Given the description of an element on the screen output the (x, y) to click on. 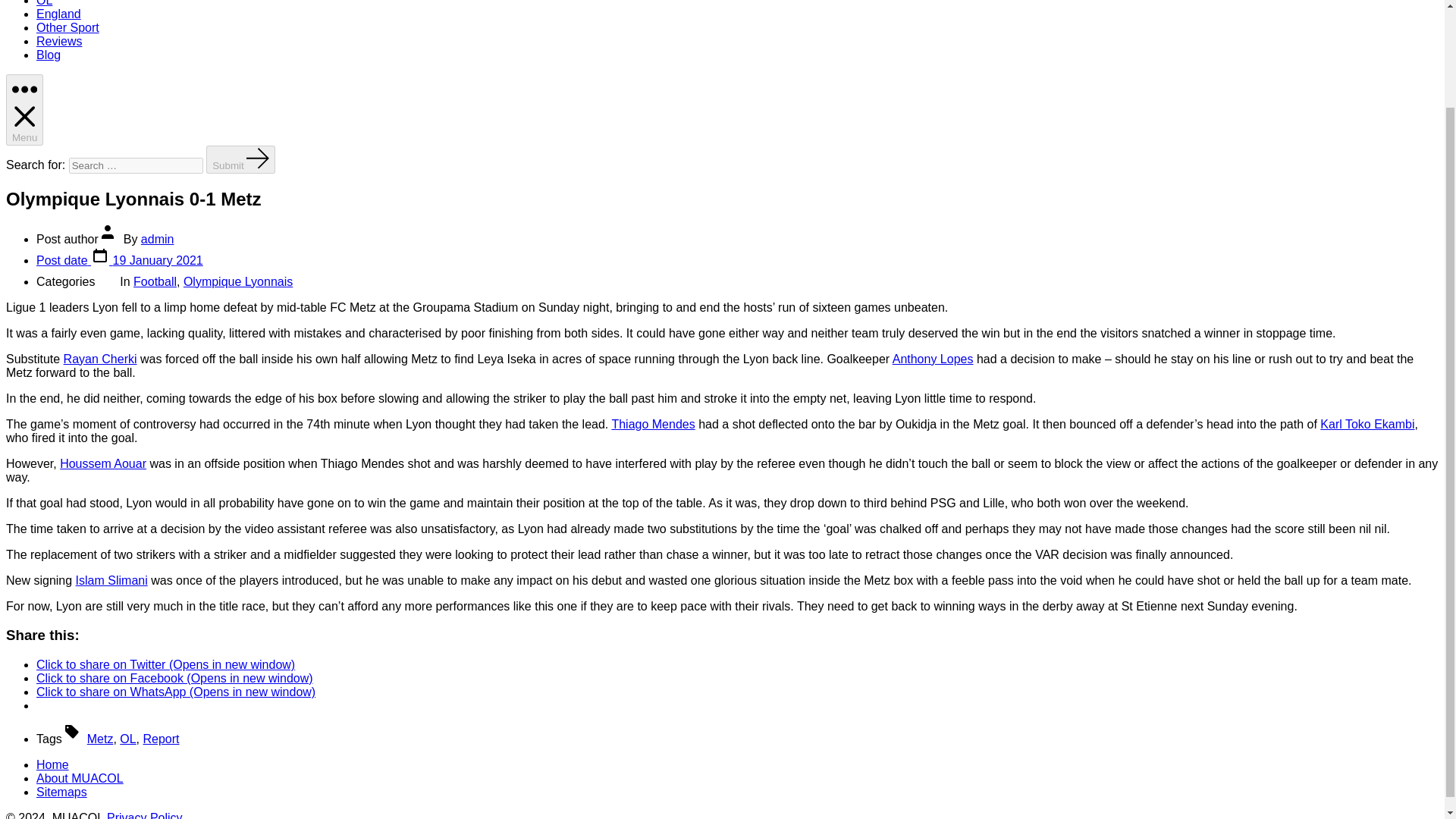
Metz (100, 738)
OL (127, 738)
Reviews (58, 41)
OL (44, 3)
Report (160, 738)
Karl Toko Ekambi (1366, 422)
Submit (240, 159)
Home (52, 764)
Rayan Cherki (100, 358)
Sitemaps (61, 791)
